Given the description of an element on the screen output the (x, y) to click on. 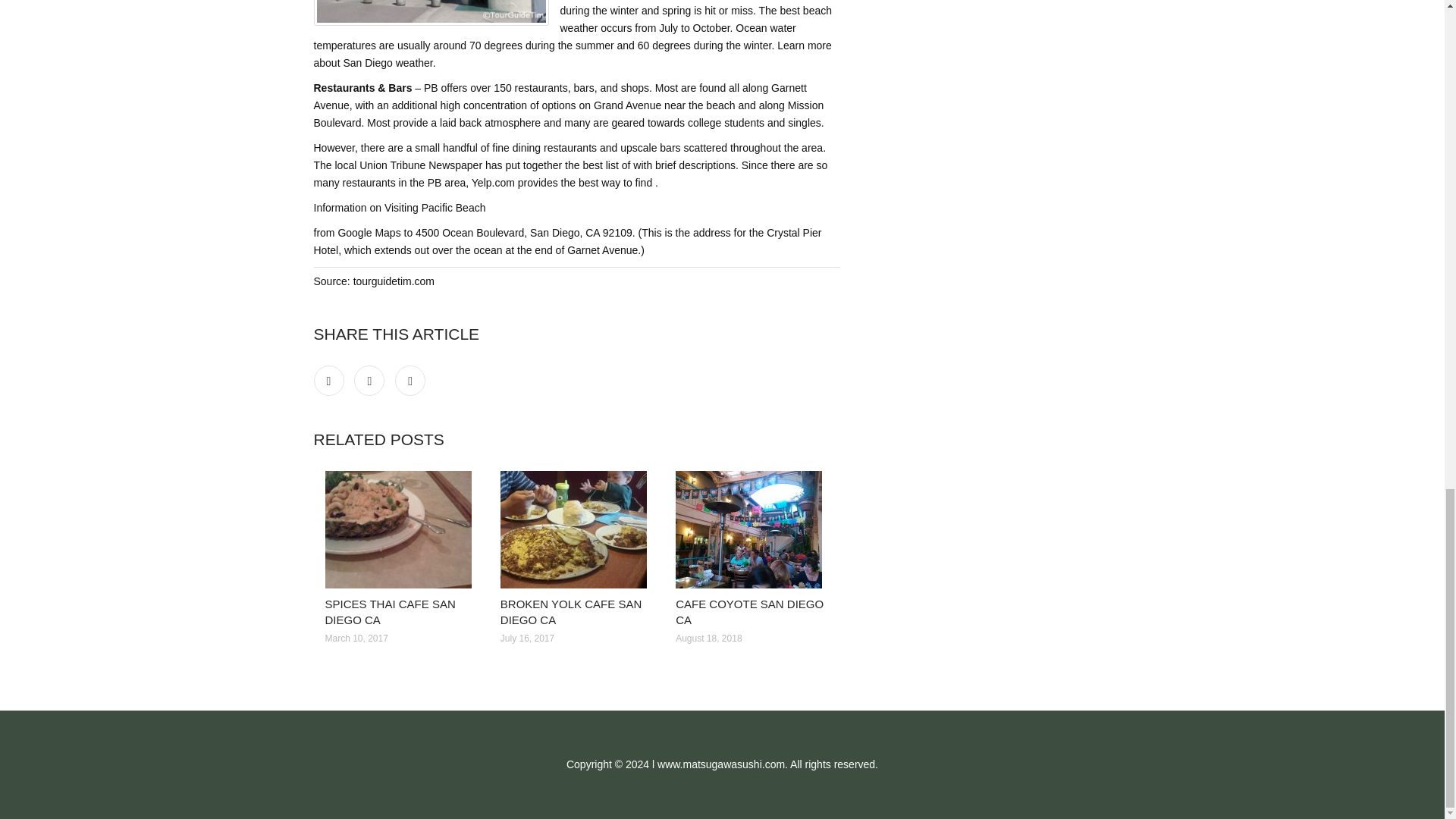
Spices Thai Cafe San Diego CA (400, 529)
pacific-beach-restaurants (431, 12)
BROKEN YOLK CAFE SAN DIEGO CA (571, 611)
CAFE COYOTE SAN DIEGO CA (749, 611)
Broken Yolk Cafe San Diego CA (576, 529)
Cafe Coyote San Diego CA (751, 529)
SPICES THAI CAFE SAN DIEGO CA (389, 611)
